Given the description of an element on the screen output the (x, y) to click on. 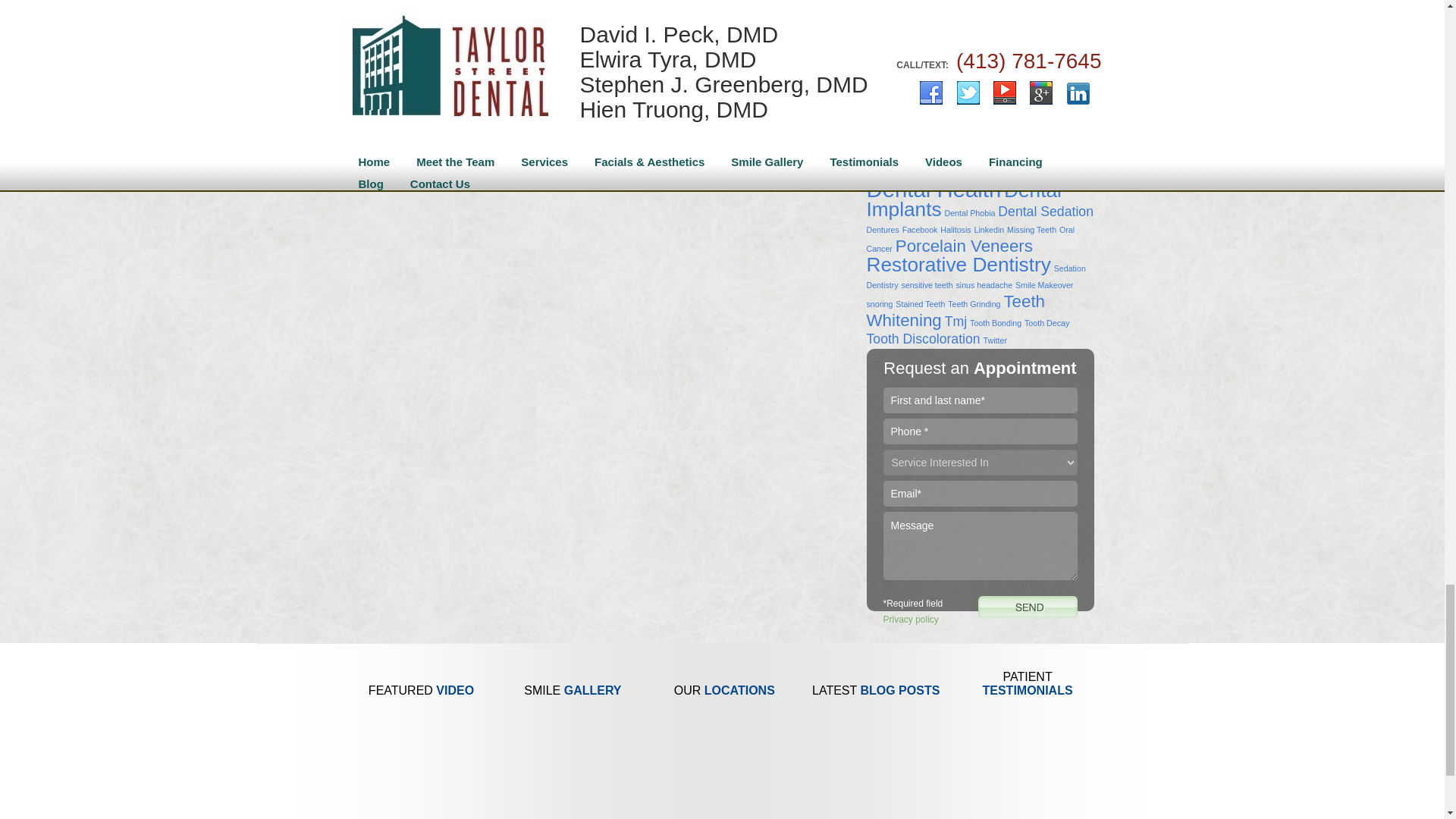
Submit (1027, 607)
